Given the description of an element on the screen output the (x, y) to click on. 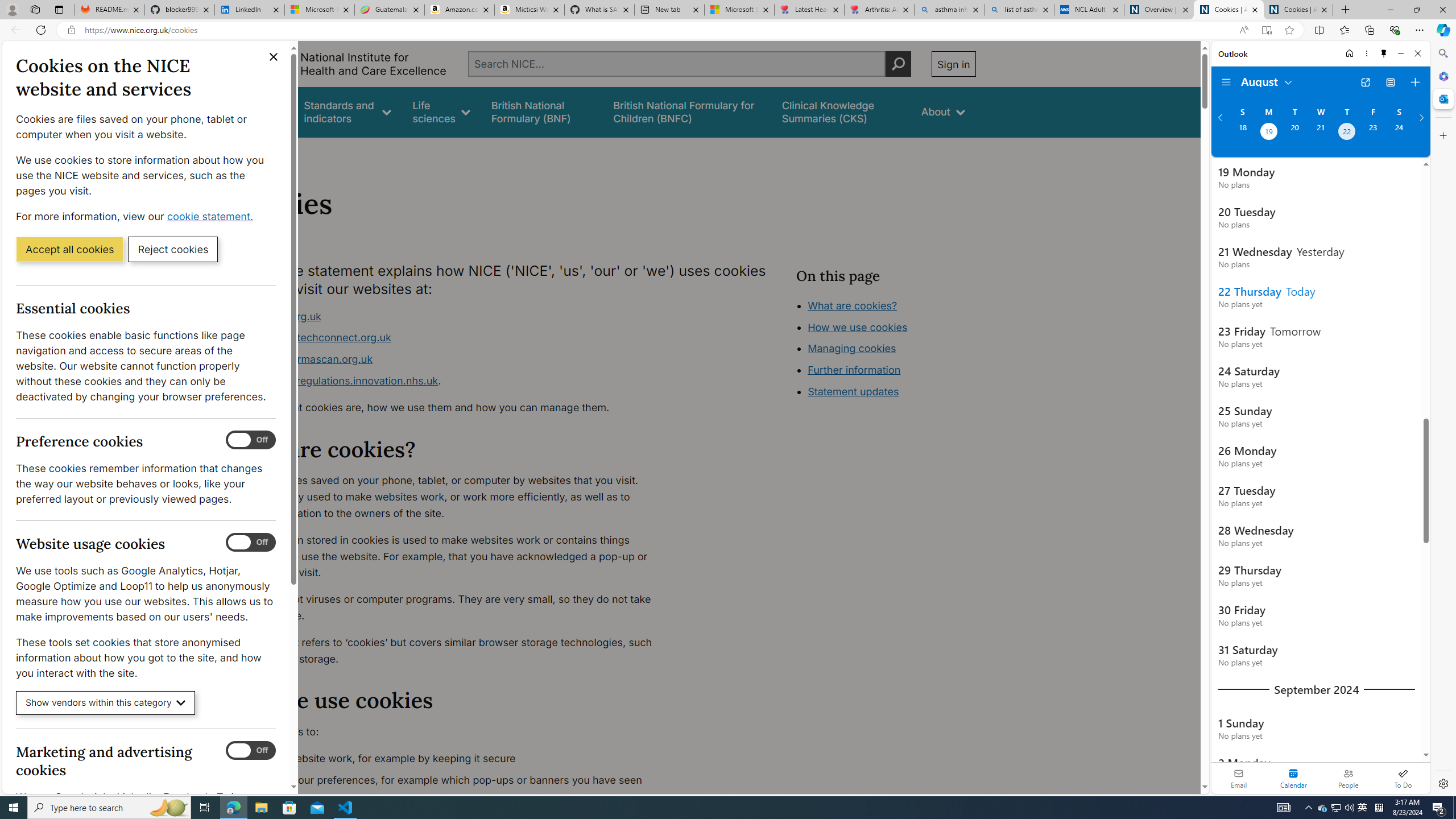
Life sciences (440, 111)
About (283, 152)
Life sciences (440, 111)
How we use cookies (896, 389)
www.healthtechconnect.org.uk (452, 338)
About (283, 152)
LinkedIn (249, 9)
Close cookie banner (273, 56)
www.ukpharmascan.org.uk (452, 359)
